Given the description of an element on the screen output the (x, y) to click on. 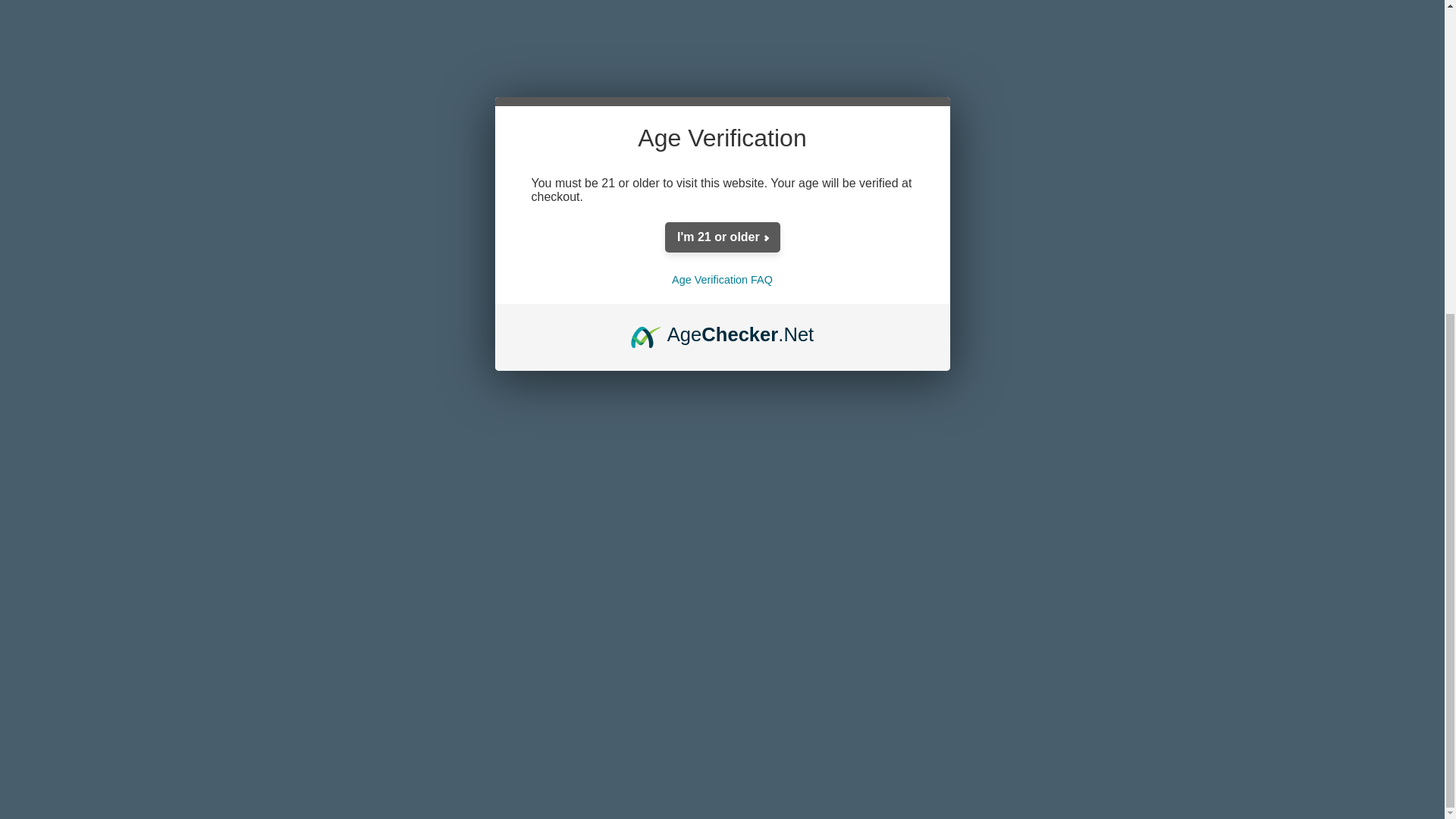
Add to Wish List (997, 17)
Add to Wish List (997, 17)
